Given the description of an element on the screen output the (x, y) to click on. 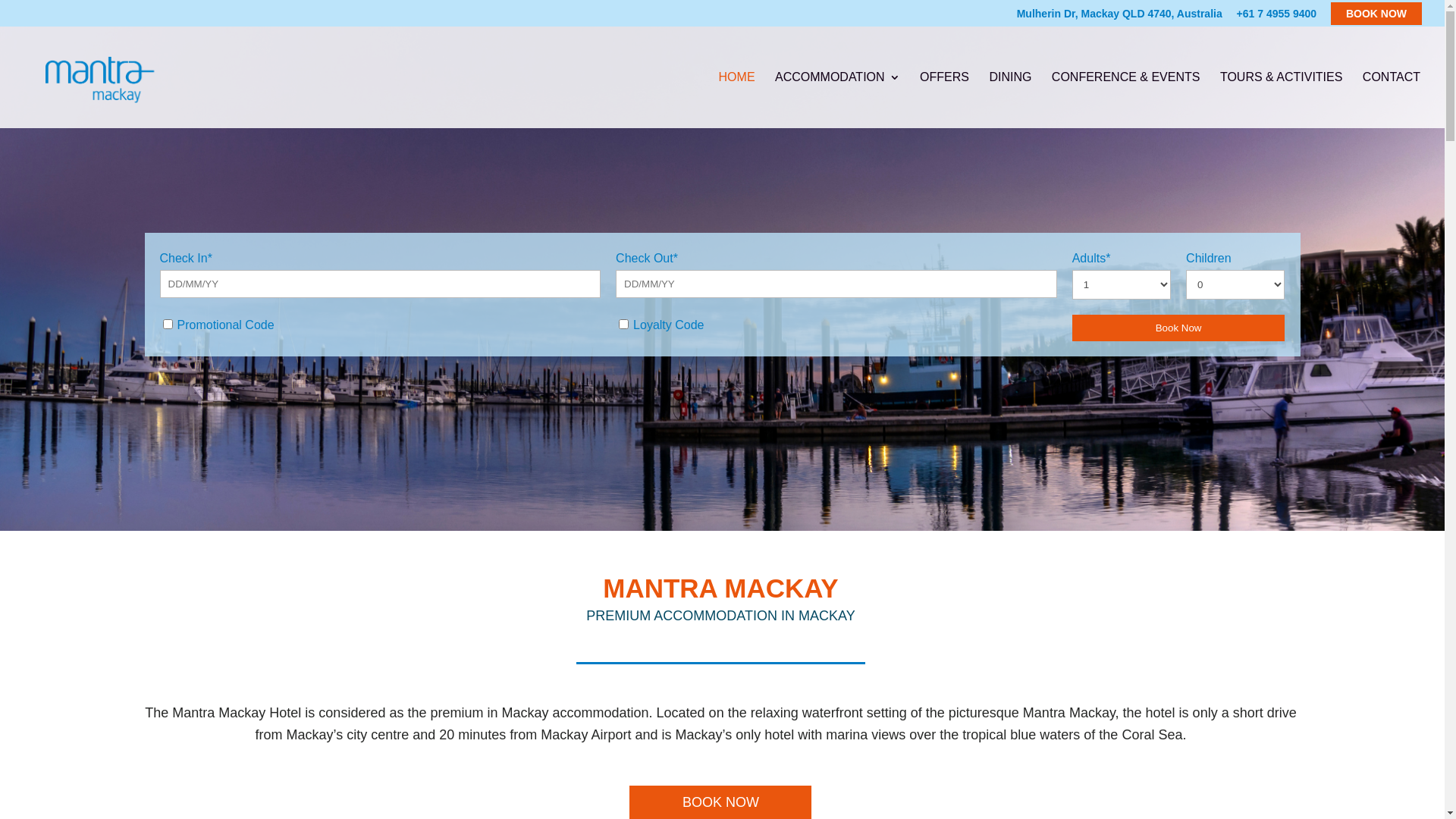
BOOK NOW Element type: text (1375, 12)
OFFERS Element type: text (944, 100)
+61 7 4955 9400 Element type: text (1276, 16)
DINING Element type: text (1009, 100)
Book Now Element type: text (1178, 327)
TOURS & ACTIVITIES Element type: text (1281, 100)
Mulherin Dr, Mackay QLD 4740, Australia Element type: text (1119, 16)
CONFERENCE & EVENTS Element type: text (1125, 100)
ACCOMMODATION Element type: text (837, 100)
HOME Element type: text (736, 100)
CONTACT Element type: text (1391, 100)
